Given the description of an element on the screen output the (x, y) to click on. 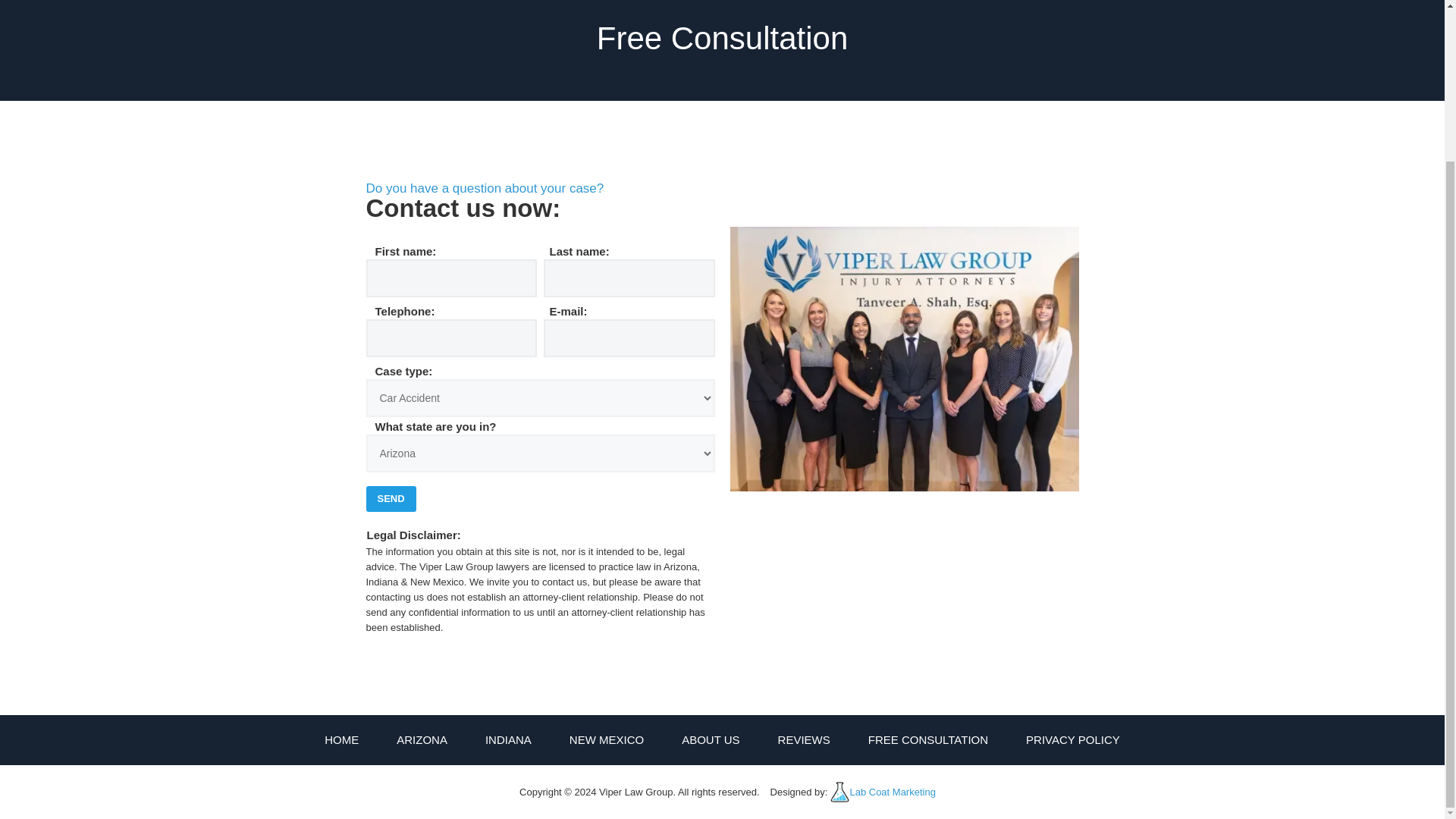
NEW MEXICO (606, 739)
SEND (389, 498)
FREE CONSULTATION (927, 739)
REVIEWS (803, 739)
SEND (389, 498)
PRIVACY POLICY (1072, 739)
Lab Coat Marketing (891, 791)
ABOUT US (710, 739)
ARIZONA (421, 739)
HOME (341, 739)
